Given the description of an element on the screen output the (x, y) to click on. 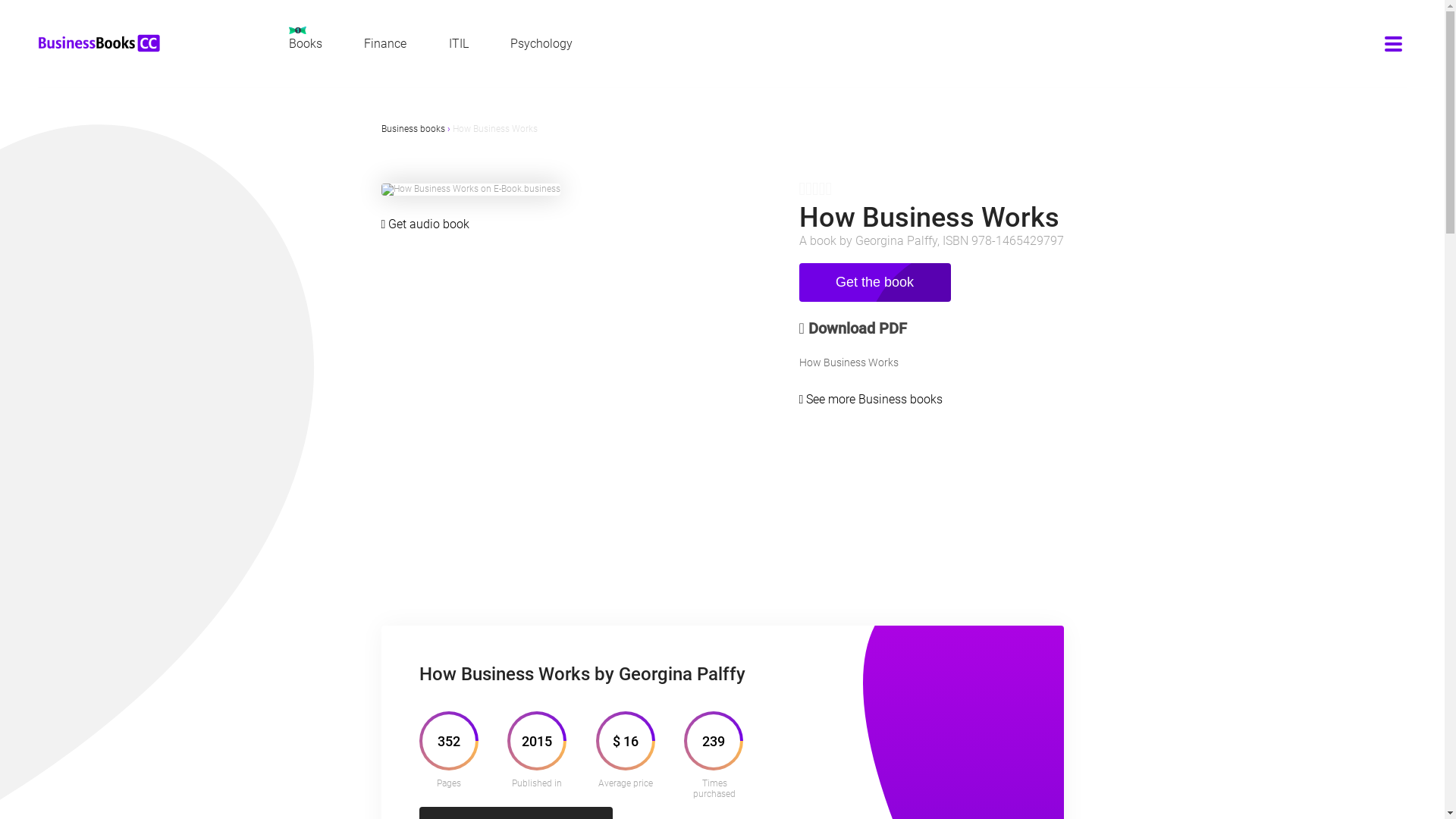
Get the book Element type: text (874, 283)
Get the book Element type: text (874, 282)
Books Element type: text (304, 38)
Business books Element type: text (412, 128)
See more Element type: text (832, 399)
ITIL Element type: text (458, 43)
Finance Element type: text (385, 43)
Psychology Element type: text (541, 43)
Business books Element type: text (900, 399)
Advertisement Element type: hover (721, 539)
Get audio book Element type: text (428, 223)
How Business Works Element type: text (493, 128)
